Given the description of an element on the screen output the (x, y) to click on. 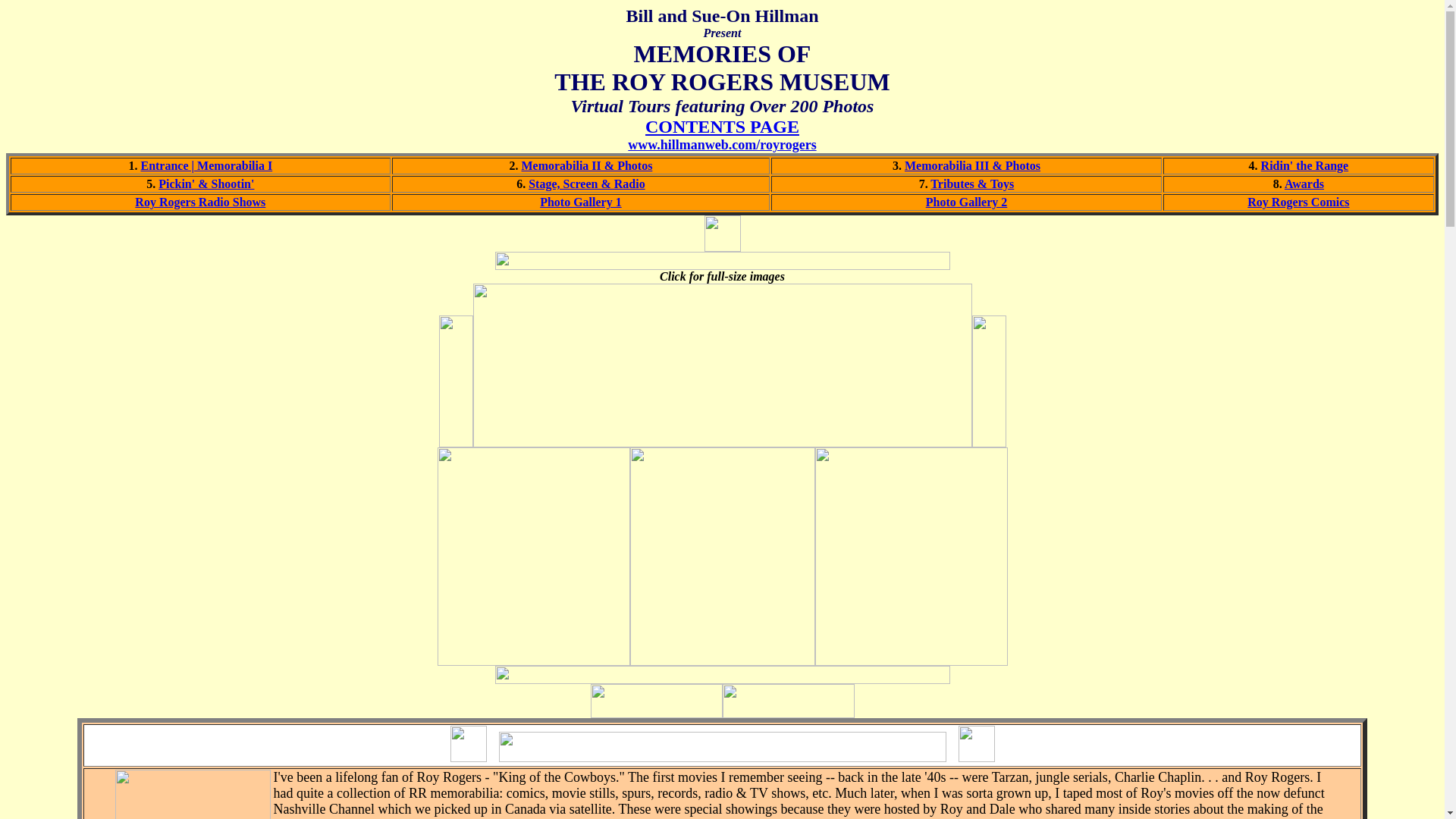
CONTENTS PAGE (722, 126)
Ridin' the Range (1304, 164)
Roy Rogers Comics (1298, 201)
Awards (1303, 183)
Photo Gallery 2 (966, 201)
Roy Rogers Radio Shows (199, 201)
Photo Gallery 1 (580, 201)
